Given the description of an element on the screen output the (x, y) to click on. 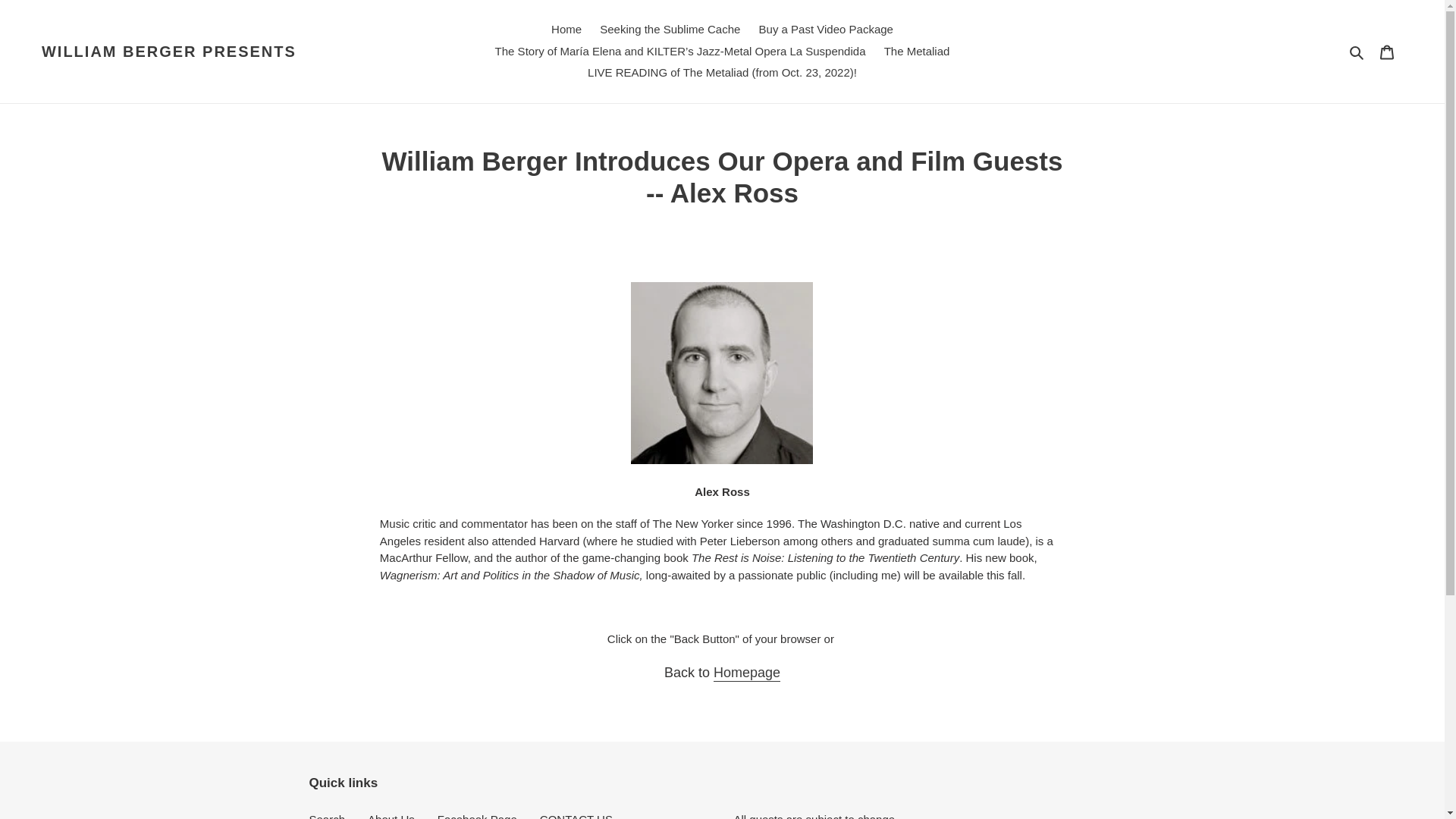
The Metaliad (917, 51)
Home (566, 29)
Seeking the Sublime Cache (670, 29)
Search (1357, 51)
Buy a Past Video Package (826, 29)
Cart (1387, 51)
Search (327, 816)
CONTACT US (576, 816)
Facebook Page (477, 816)
Homepage (746, 673)
WILLIAM BERGER PRESENTS (169, 51)
Homepage (746, 673)
About Us (391, 816)
